Given the description of an element on the screen output the (x, y) to click on. 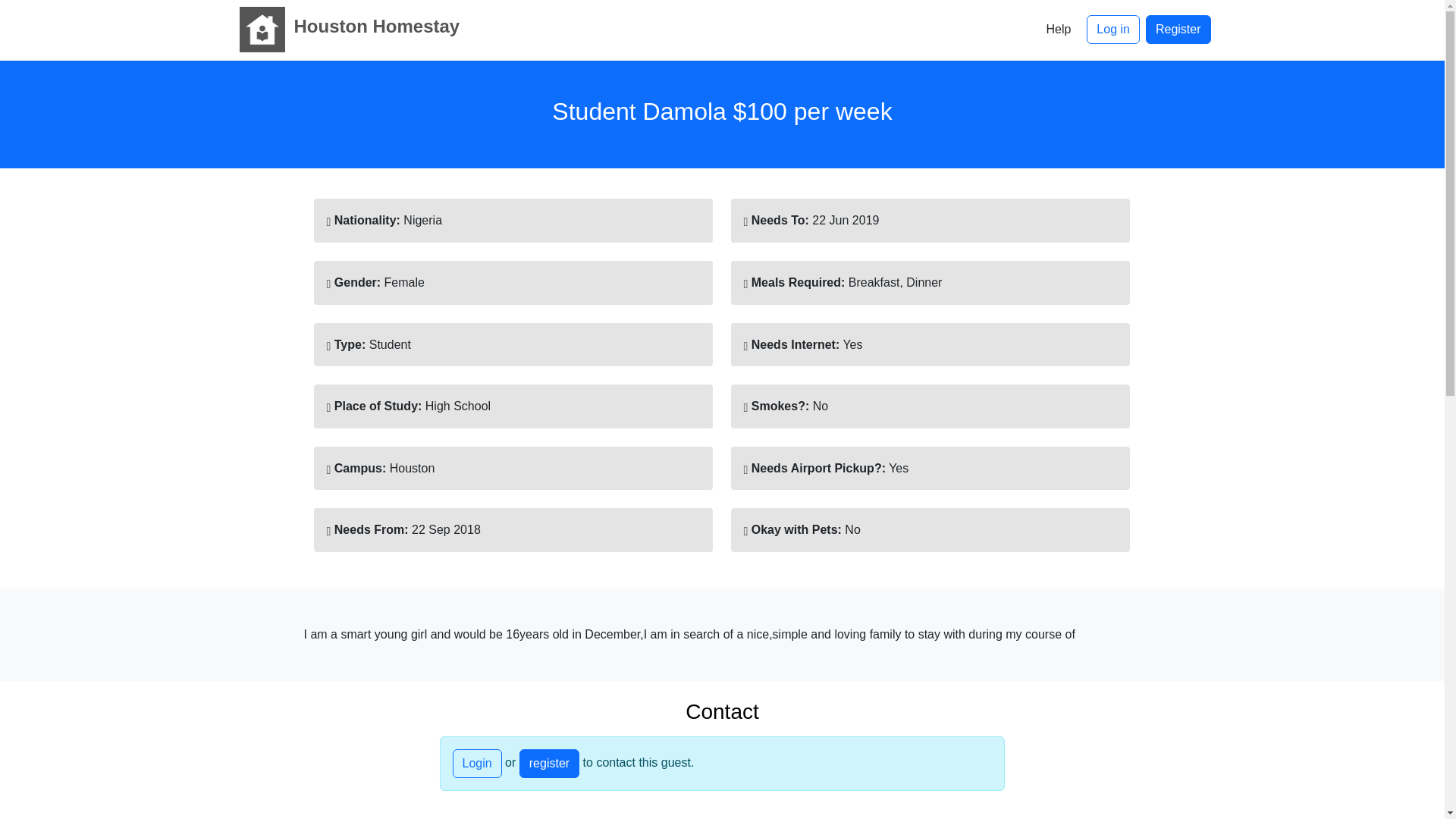
Houston Homestay (345, 29)
register (549, 763)
Login (475, 763)
Help (1057, 29)
Log in (1113, 29)
Register (1178, 29)
